Given the description of an element on the screen output the (x, y) to click on. 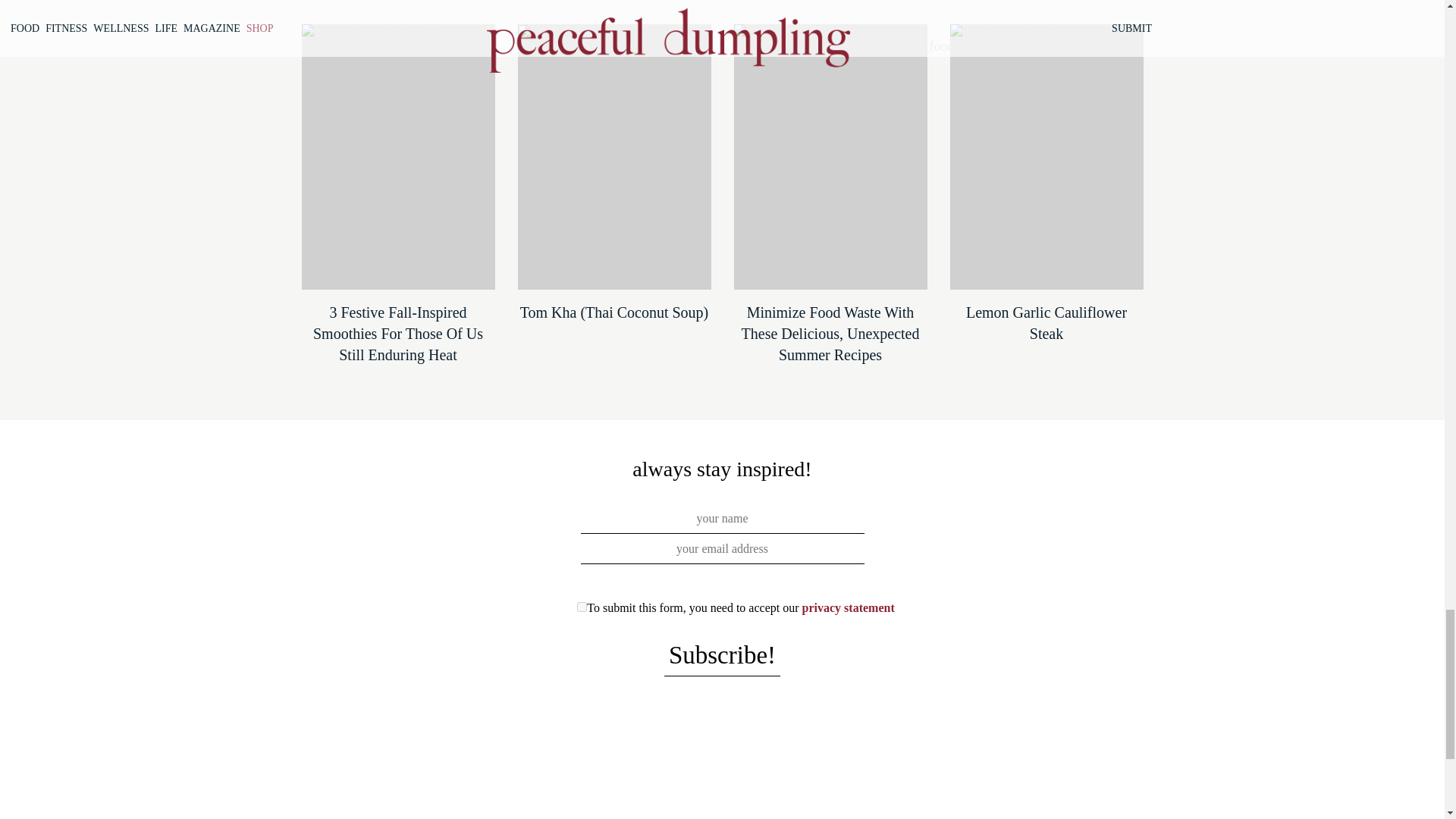
Subscribe! (721, 656)
1 (581, 606)
